Given the description of an element on the screen output the (x, y) to click on. 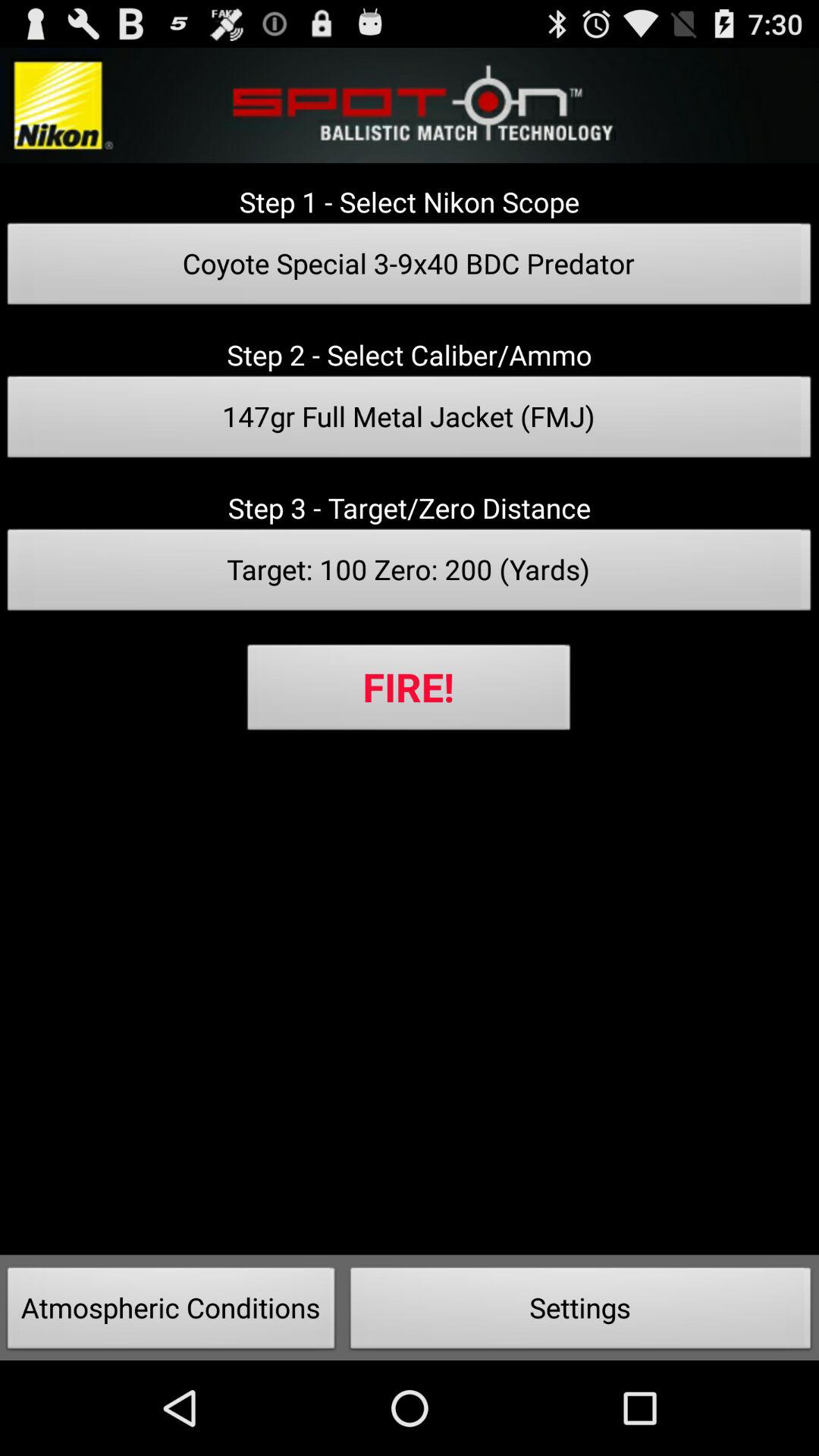
launch the icon above fire! button (409, 574)
